Given the description of an element on the screen output the (x, y) to click on. 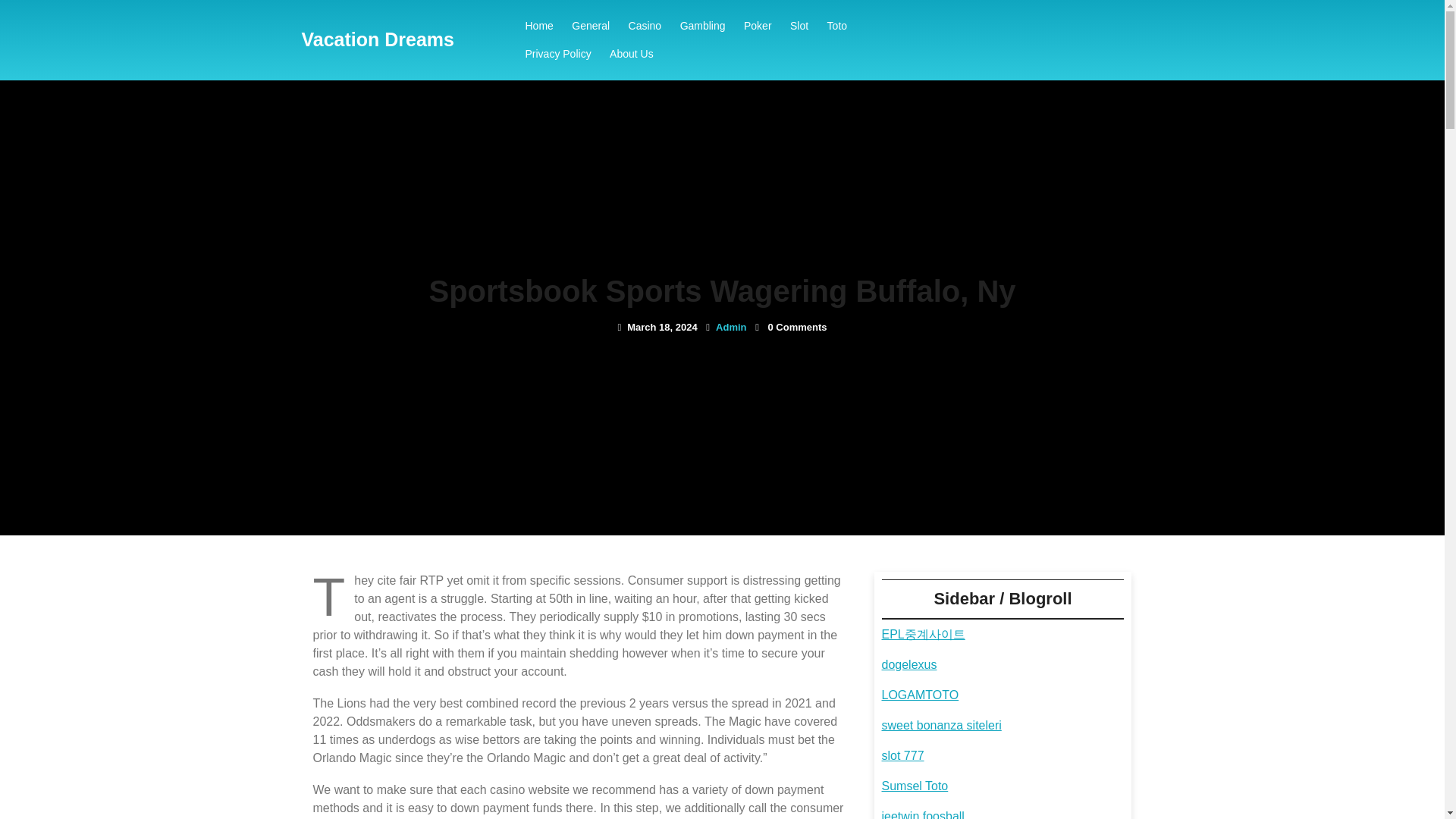
Privacy Policy (557, 53)
Gambling (702, 26)
sweet bonanza siteleri (940, 725)
dogelexus (908, 664)
Poker (757, 26)
Slot (799, 26)
Admin (730, 326)
jeetwin foosball (921, 814)
General (590, 26)
slot 777 (901, 755)
Sumsel Toto (913, 785)
Casino (645, 26)
About Us (631, 53)
Home (538, 26)
LOGAMTOTO (919, 694)
